Given the description of an element on the screen output the (x, y) to click on. 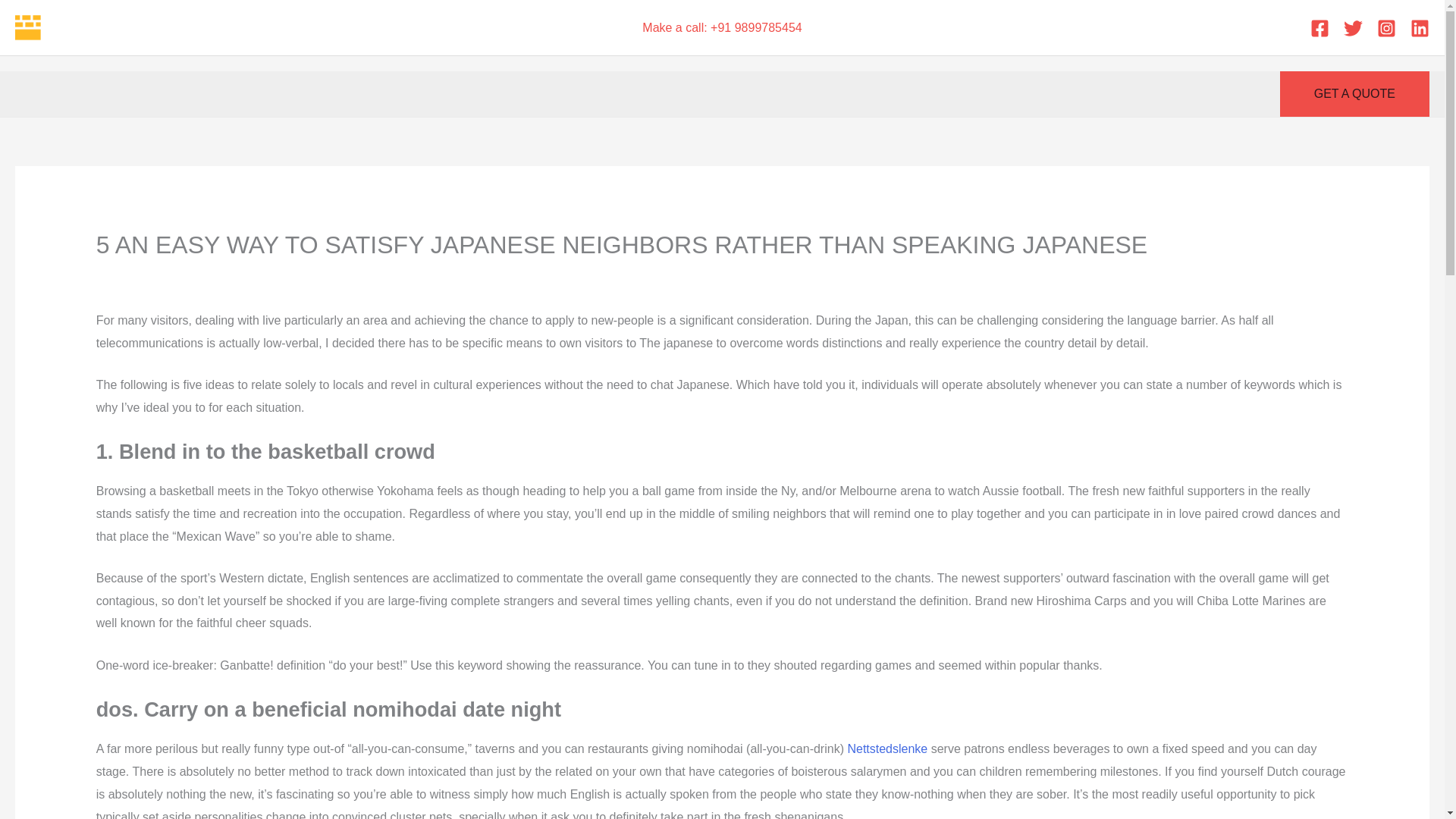
View all posts by anjaniassociates (833, 276)
anjaniassociates (833, 276)
Leave a Comment (145, 276)
GET A QUOTE (1354, 94)
Nettstedslenke (887, 748)
